Given the description of an element on the screen output the (x, y) to click on. 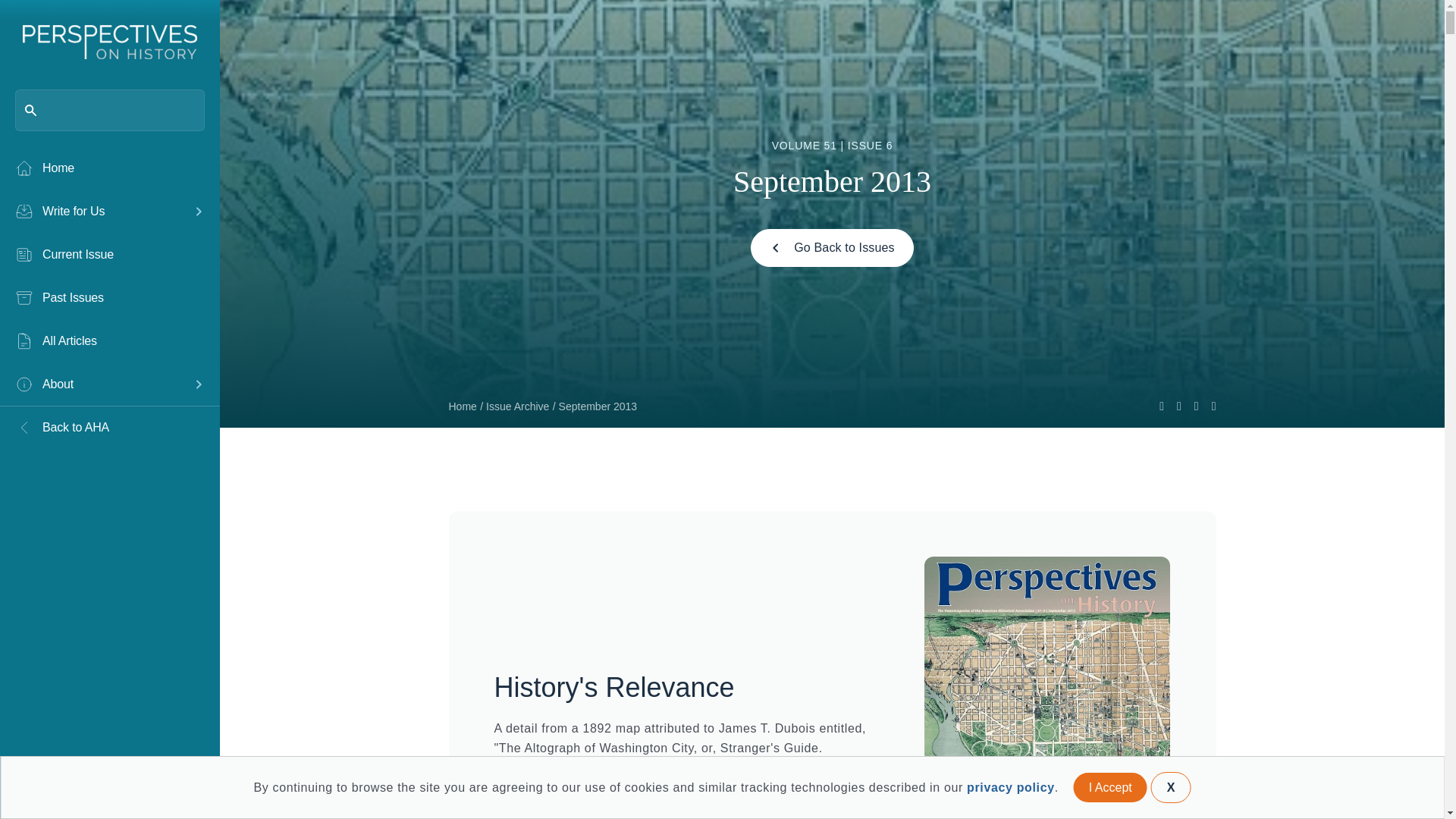
Donate (160, 784)
X (1171, 787)
privacy policy (1010, 787)
About (98, 384)
Home (109, 168)
Current Issue (109, 254)
All Articles (109, 341)
Search (38, 18)
Log In (59, 784)
Past Issues (109, 297)
